Given the description of an element on the screen output the (x, y) to click on. 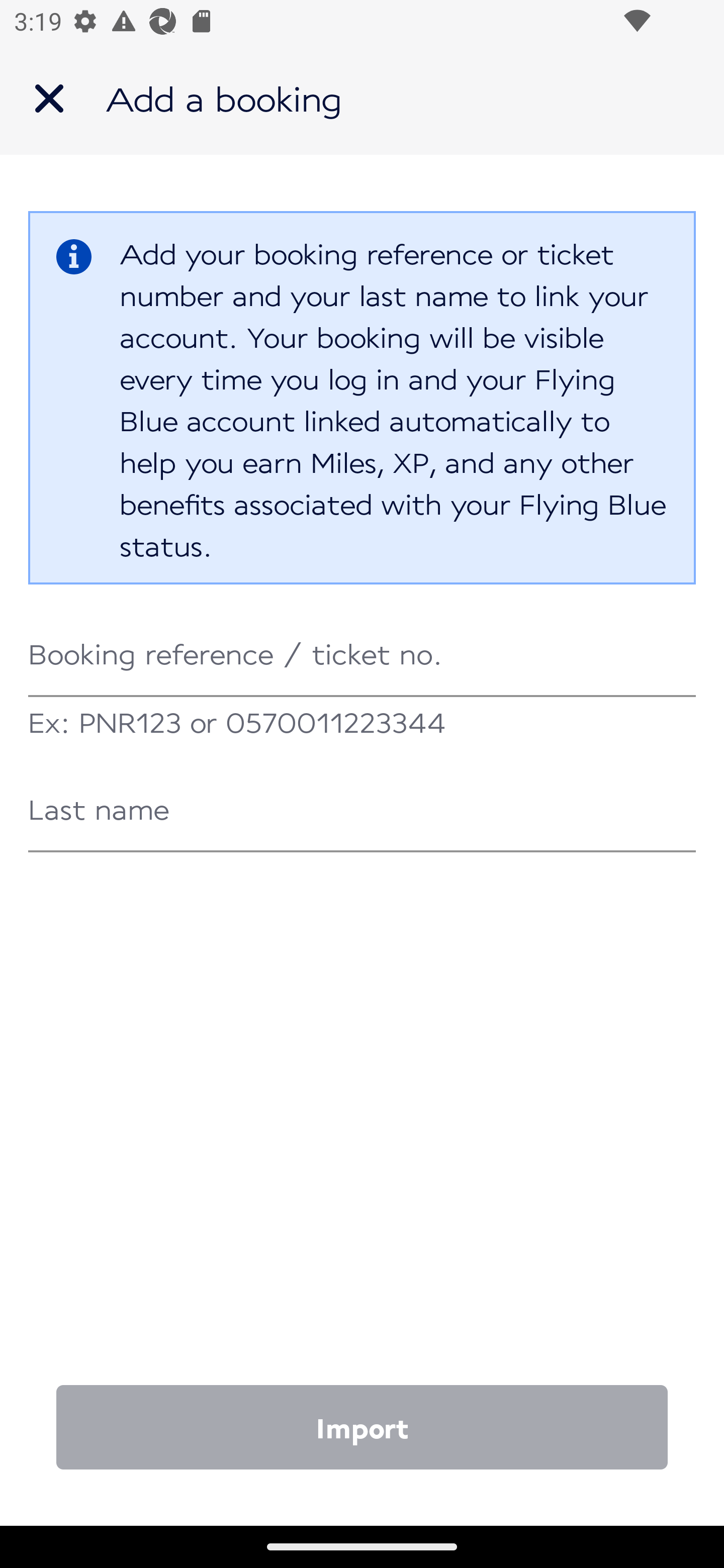
Booking reference / ticket no. (361, 655)
Last name (361, 810)
Import (361, 1426)
